Given the description of an element on the screen output the (x, y) to click on. 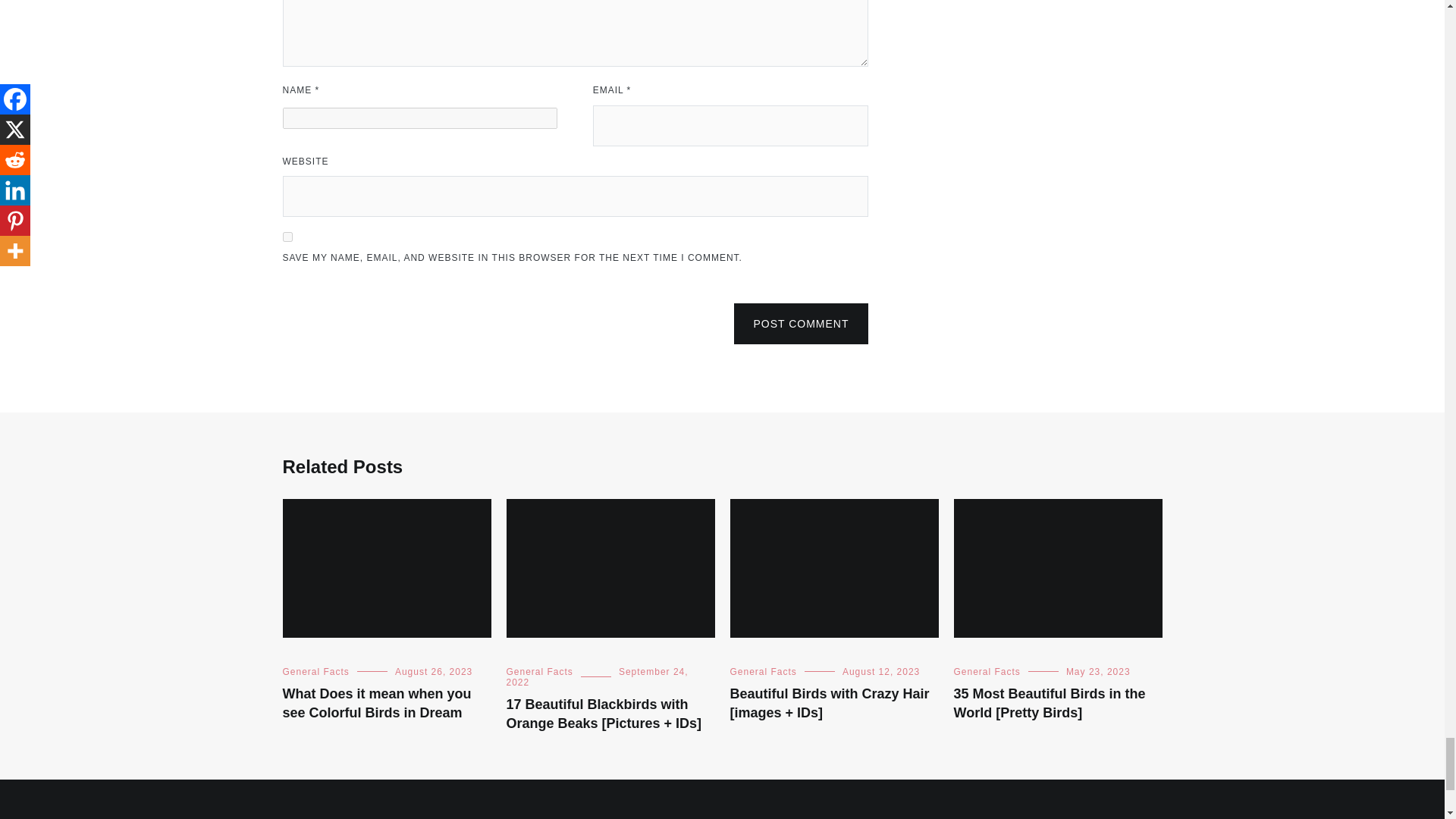
yes (287, 236)
